Given the description of an element on the screen output the (x, y) to click on. 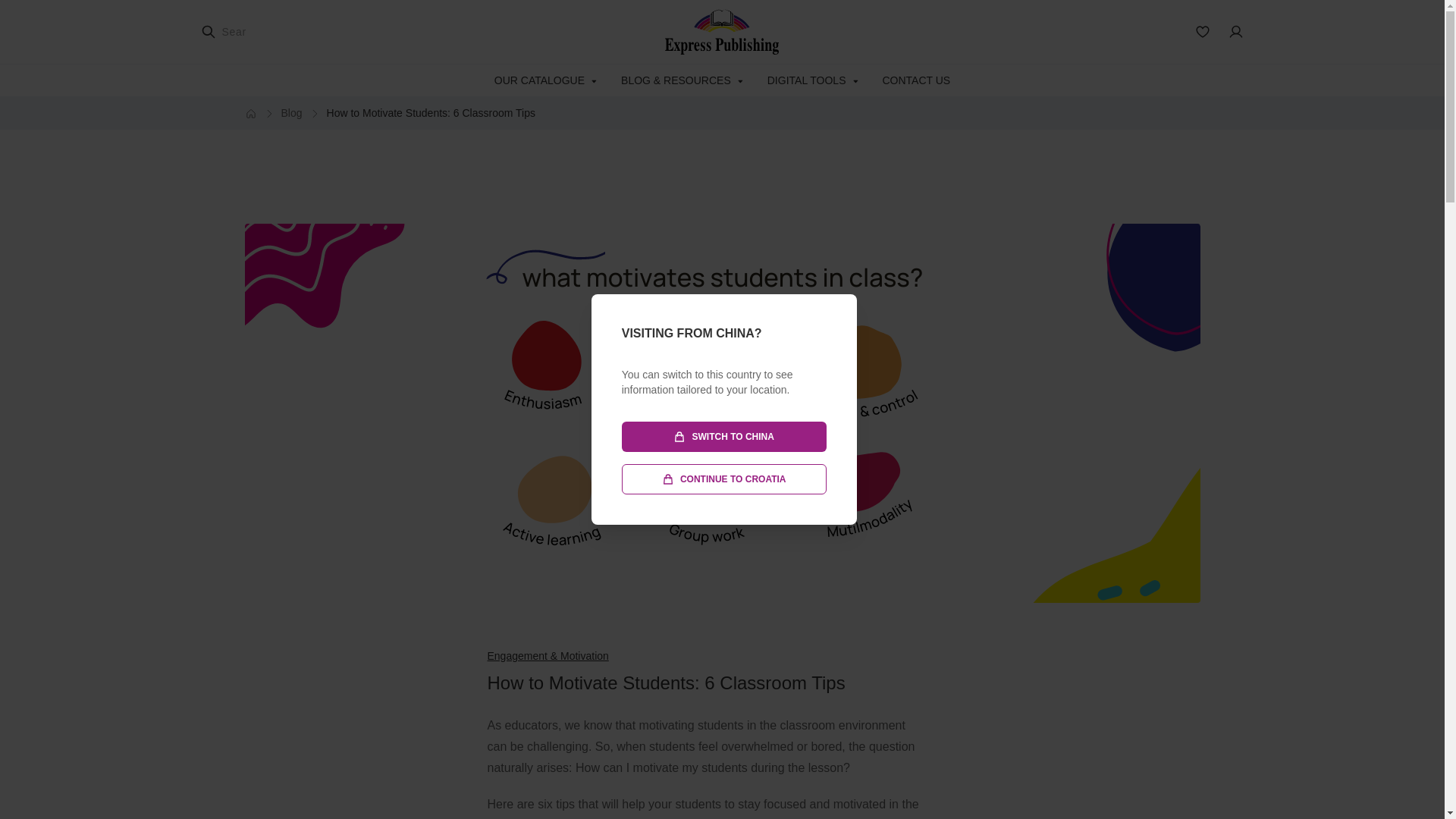
OUR CATALOGUE (545, 80)
CONTACT US (916, 80)
Home (250, 113)
Express Publishing (721, 31)
Blog (291, 113)
